Given the description of an element on the screen output the (x, y) to click on. 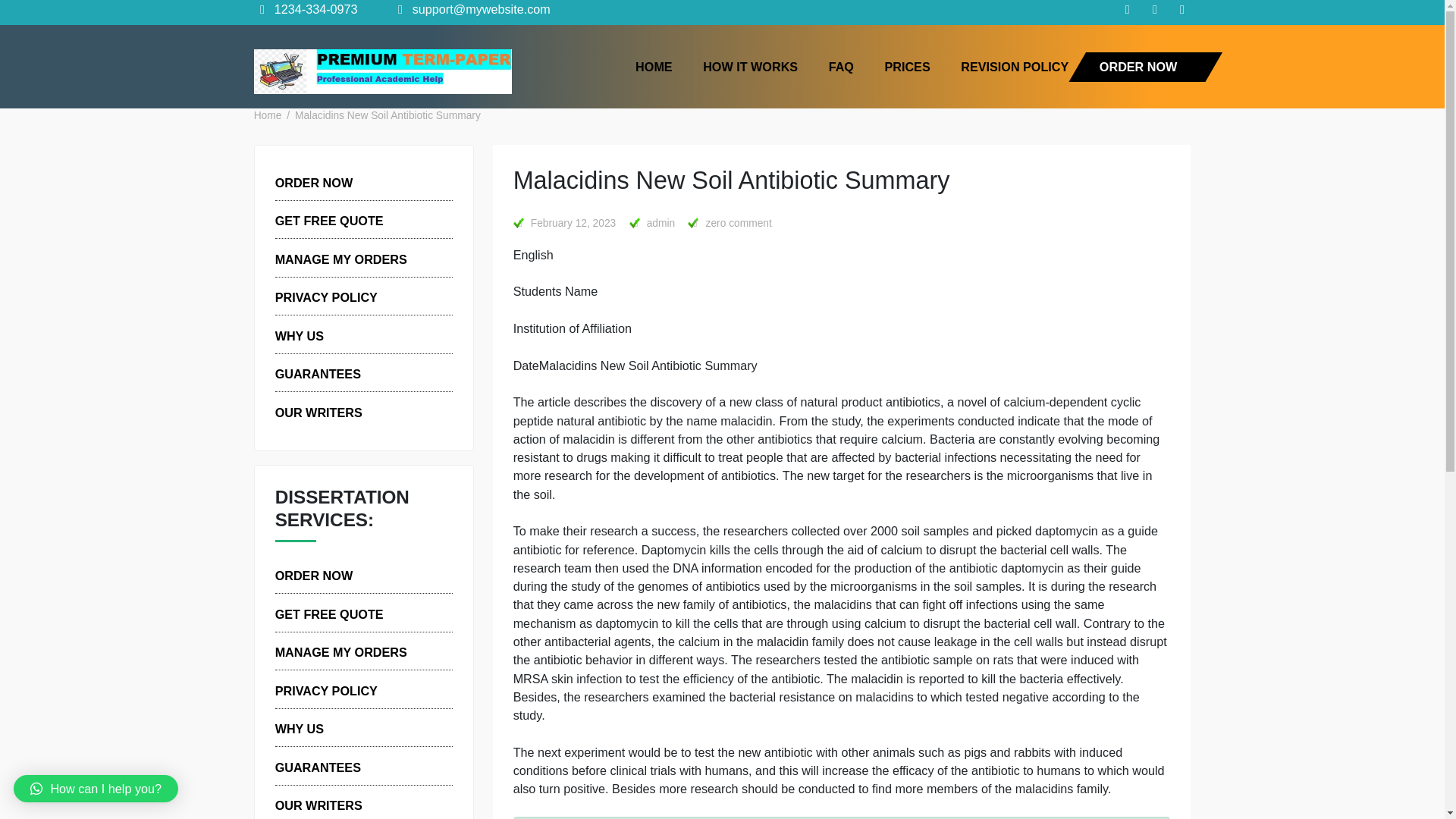
OUR WRITERS (354, 458)
GET FREE QUOTE (365, 682)
ORDER NOW (1265, 73)
MANAGE MY ORDERS (378, 725)
GUARANTEES (353, 415)
PRICES (1008, 73)
PRIVACY POLICY (362, 768)
ORDER NOW (348, 202)
GET FREE QUOTE (365, 245)
Home (297, 129)
admin (723, 248)
1234-334-0973 (339, 10)
HOME (725, 73)
zero comment (820, 248)
FAQ (934, 73)
